Given the description of an element on the screen output the (x, y) to click on. 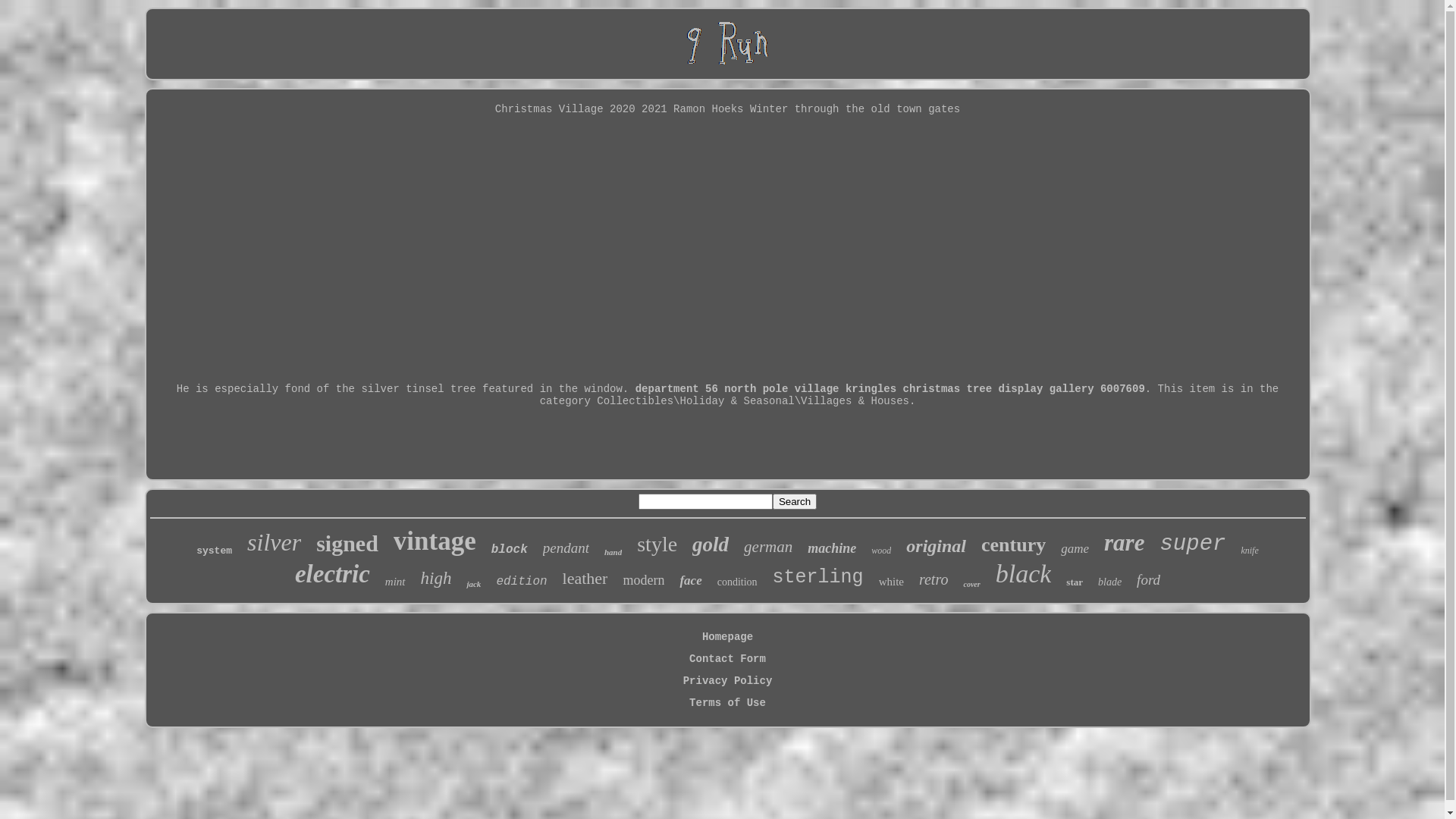
sterling Element type: text (817, 577)
Privacy Policy Element type: text (727, 680)
super Element type: text (1192, 543)
style Element type: text (657, 544)
knife Element type: text (1249, 550)
signed Element type: text (347, 543)
high Element type: text (435, 578)
white Element type: text (890, 581)
retro Element type: text (933, 579)
jack Element type: text (473, 583)
electric Element type: text (332, 574)
Search Element type: text (794, 501)
german Element type: text (767, 546)
hand Element type: text (612, 551)
Terms of Use Element type: text (727, 702)
leather Element type: text (585, 578)
original Element type: text (936, 546)
rare Element type: text (1124, 542)
game Element type: text (1074, 548)
gold Element type: text (710, 544)
star Element type: text (1074, 582)
modern Element type: text (643, 580)
Contact Form Element type: text (727, 658)
ford Element type: text (1148, 579)
block Element type: text (509, 549)
wood Element type: text (881, 550)
cover Element type: text (971, 584)
pendant Element type: text (565, 547)
edition Element type: text (520, 581)
century Element type: text (1013, 544)
black Element type: text (1023, 573)
face Element type: text (690, 580)
system Element type: text (214, 550)
silver Element type: text (274, 542)
mint Element type: text (395, 581)
blade Element type: text (1109, 582)
machine Element type: text (831, 548)
vintage Element type: text (434, 541)
Homepage Element type: text (727, 636)
condition Element type: text (737, 582)
